Given the description of an element on the screen output the (x, y) to click on. 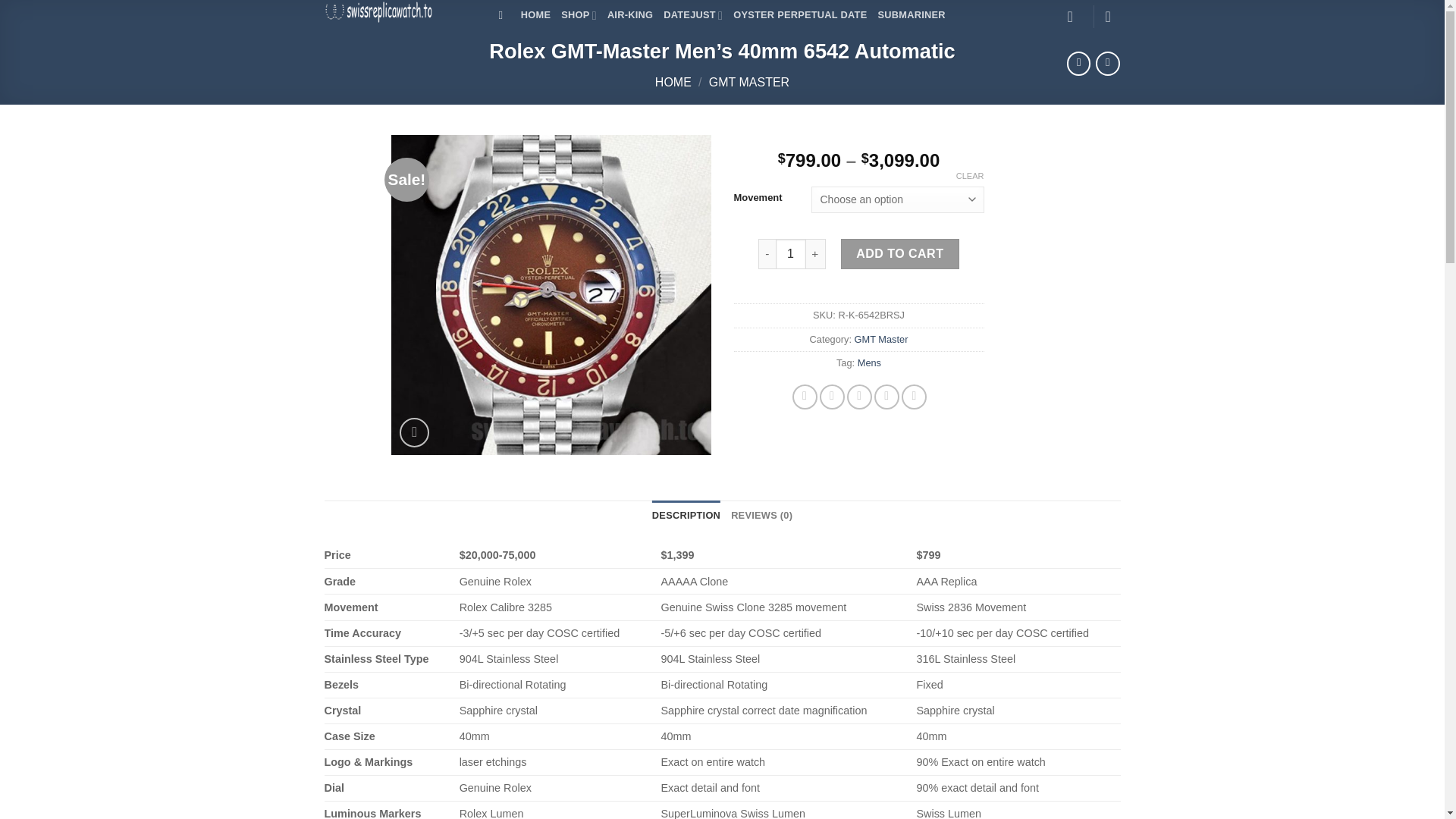
Zoom (413, 432)
HOME (535, 15)
Share on Facebook (804, 396)
R-K-6542BRSJ-3.jpg (1190, 295)
Qty (791, 254)
DATEJUST (692, 15)
1 (791, 254)
AIR-KING (629, 15)
R-K-6542BRSJ-1 (551, 295)
